Given the description of an element on the screen output the (x, y) to click on. 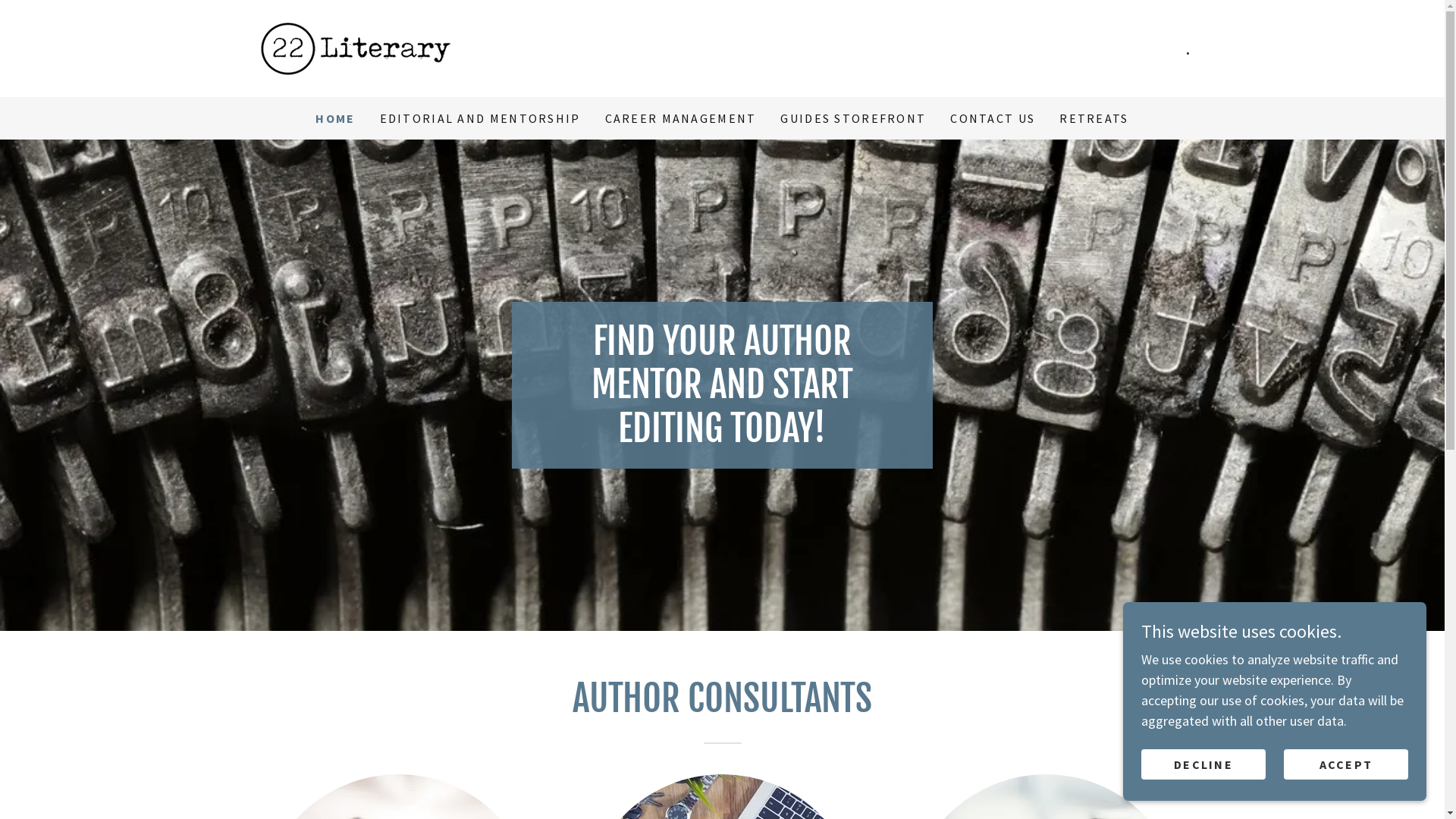
CAREER MANAGEMENT Element type: text (680, 117)
EDITORIAL AND MENTORSHIP Element type: text (480, 117)
HOME Element type: text (334, 118)
22 Literary Element type: hover (359, 46)
CONTACT US Element type: text (992, 117)
ACCEPT Element type: text (1345, 764)
DECLINE Element type: text (1203, 764)
RETREATS Element type: text (1093, 117)
GUIDES STOREFRONT Element type: text (852, 117)
